Given the description of an element on the screen output the (x, y) to click on. 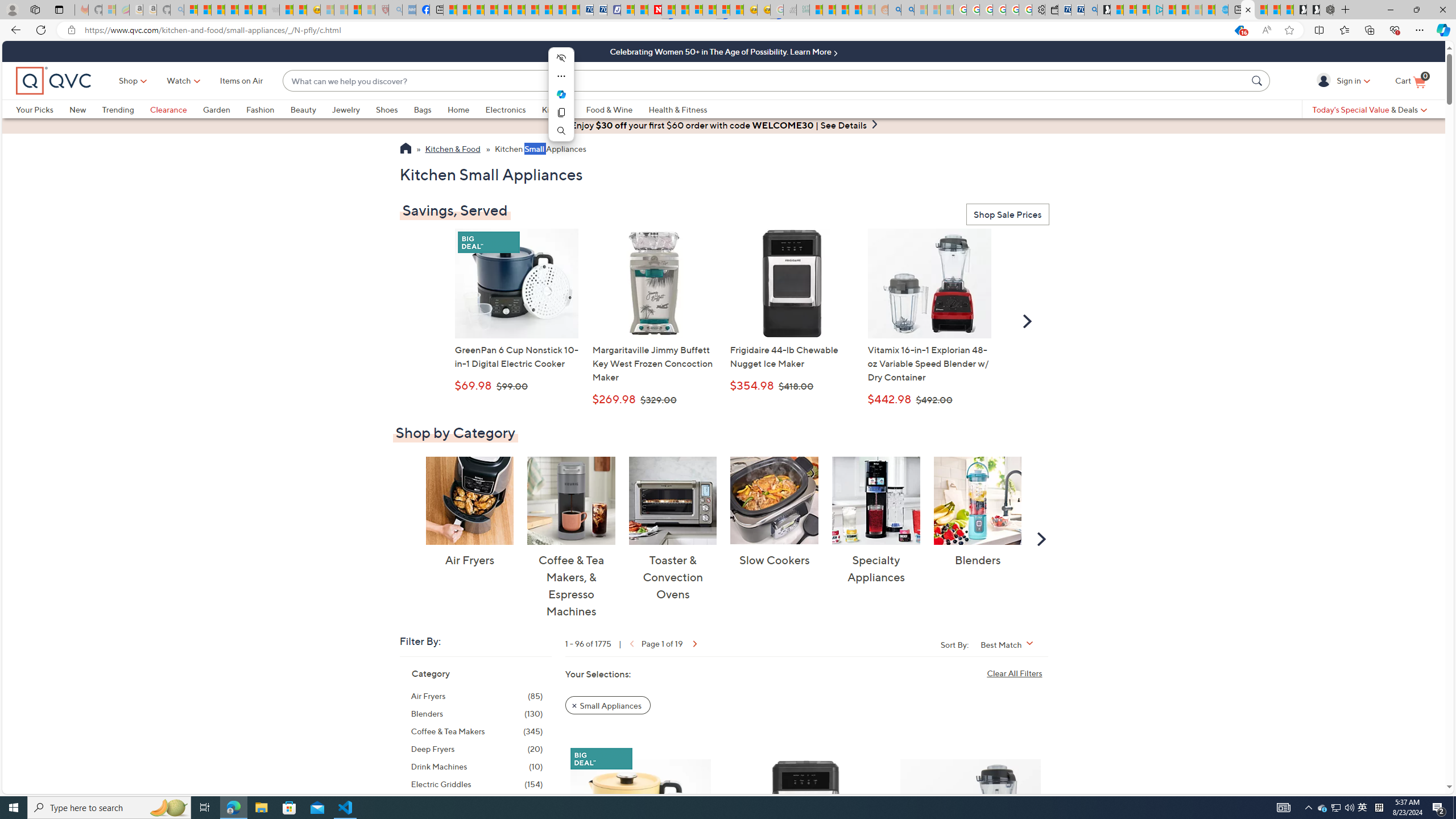
Slow Cookers Slow Cookers (774, 512)
Robert H. Shmerling, MD - Harvard Health - Sleeping (381, 9)
Cheap Hotels - Save70.com (599, 9)
Science - MSN (354, 9)
Your Picks (34, 109)
Latest Politics News & Archive | Newsweek.com (654, 9)
Home | Sky Blue Bikes - Sky Blue Bikes (1221, 9)
Category (430, 673)
Air Fryers, 85 items (476, 695)
